Given the description of an element on the screen output the (x, y) to click on. 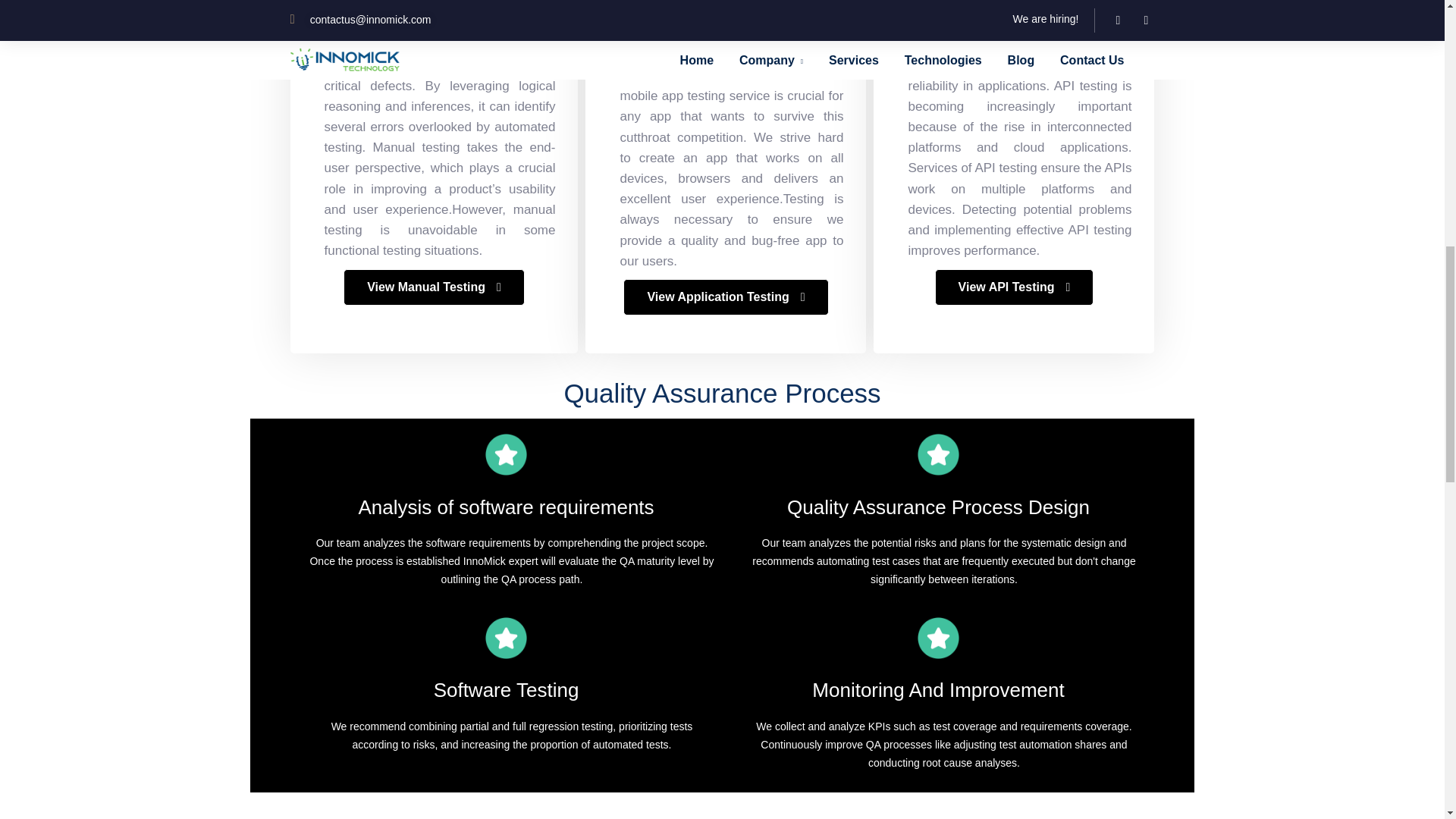
View Manual Testing (433, 287)
View Application Testing (725, 297)
View API Testing (1014, 287)
